Given the description of an element on the screen output the (x, y) to click on. 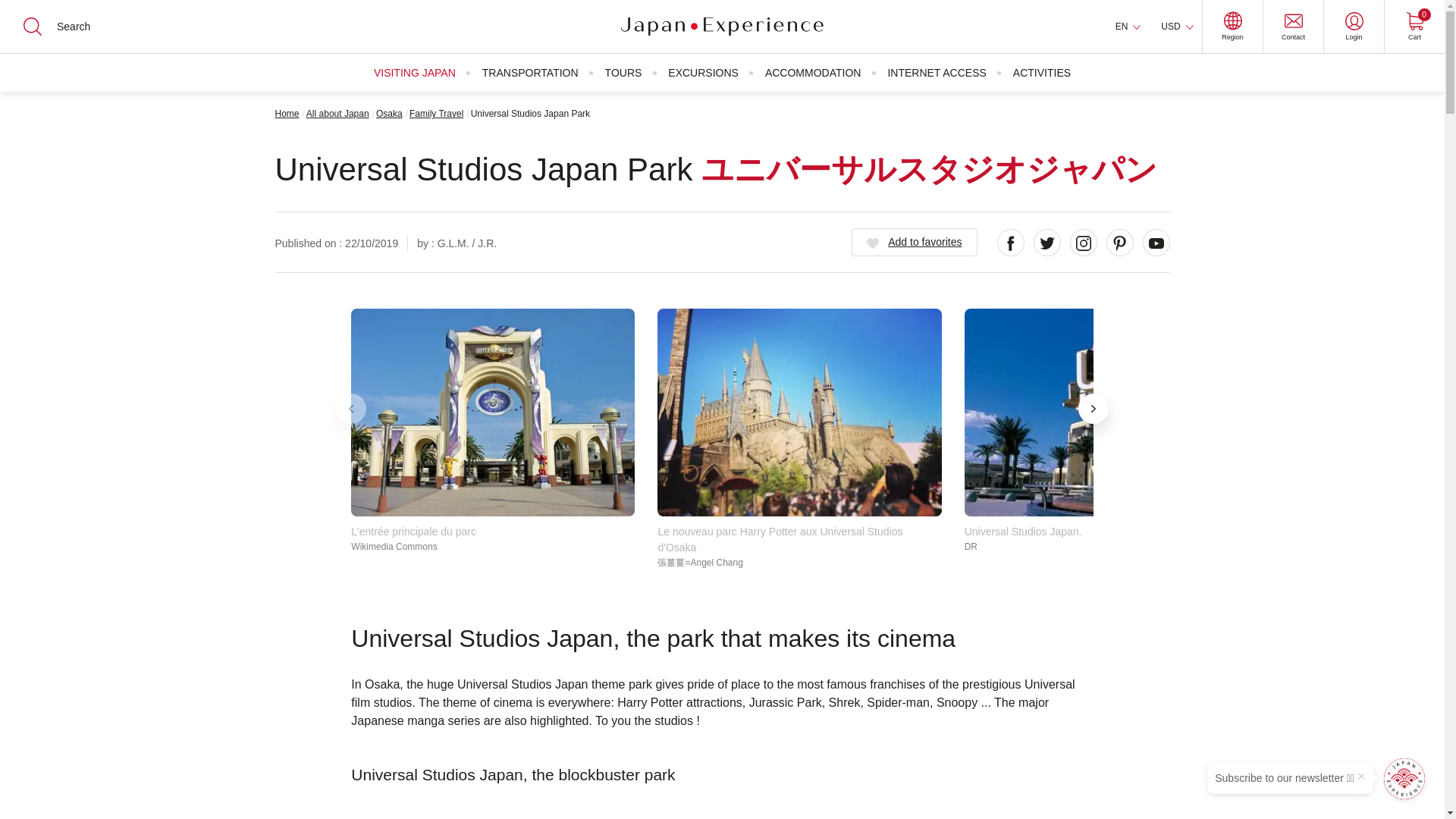
TRANSPORTATION (1414, 26)
Region (529, 72)
EN (1232, 26)
Search (1128, 26)
Le nouveau parc Harry Potter aux Universal Studios d'Osaka (23, 12)
Universal Studios Japan. (799, 412)
Search (1105, 412)
Contact (23, 12)
USD (1292, 26)
Skip to main content (1177, 26)
Universal Studios Japan (7, 7)
VISITING JAPAN (492, 412)
Login (414, 72)
